Given the description of an element on the screen output the (x, y) to click on. 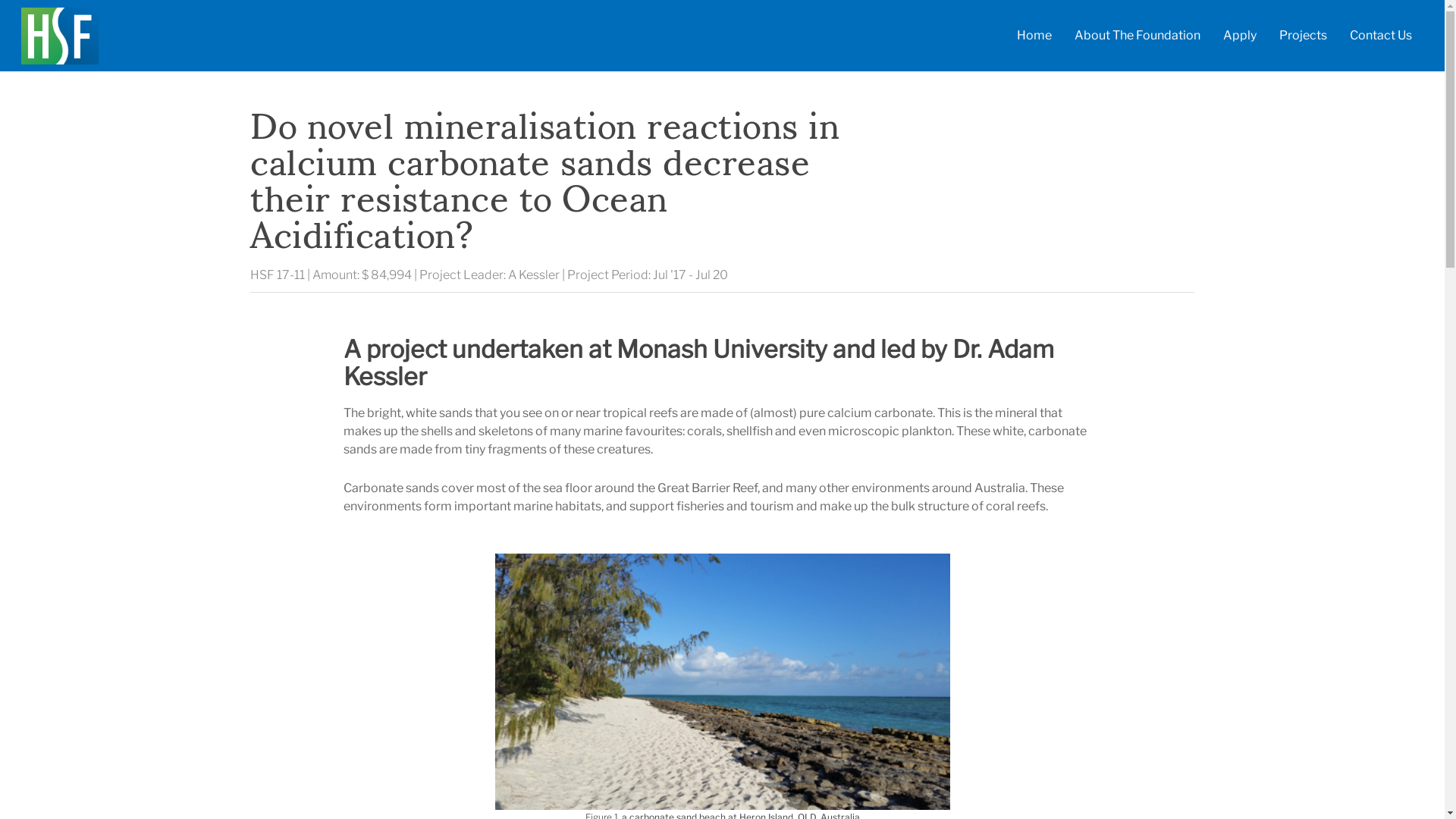
Projects Element type: text (1303, 39)
Home Element type: text (1033, 39)
Apply Element type: text (1239, 39)
Contact Us Element type: text (1380, 39)
About The Foundation Element type: text (1137, 39)
